Given the description of an element on the screen output the (x, y) to click on. 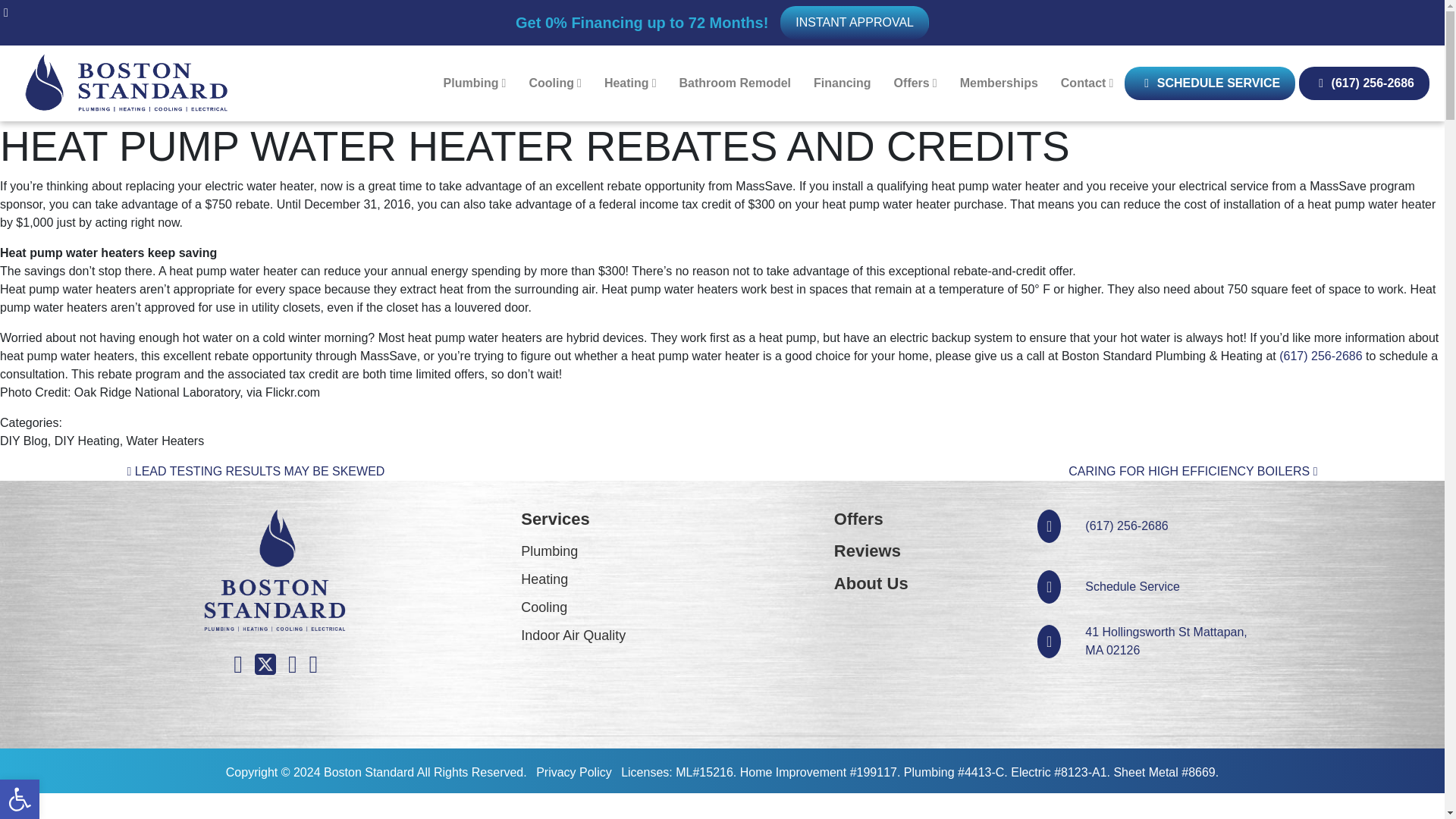
Accessibility Tools (19, 799)
Plumbing (19, 799)
Accessibility Tools (475, 82)
Plumbing (19, 799)
INSTANT APPROVAL (475, 82)
